Given the description of an element on the screen output the (x, y) to click on. 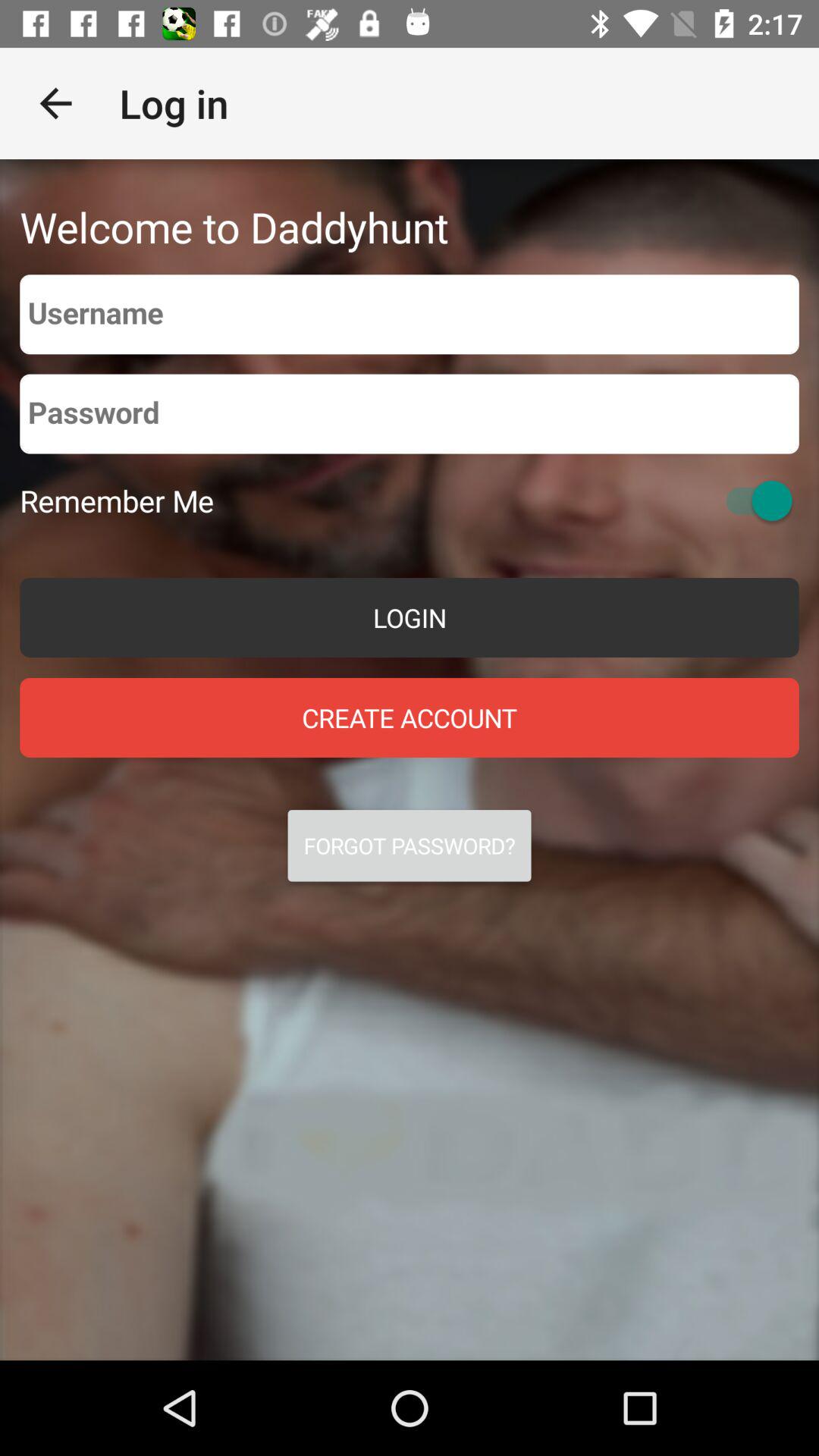
username entry (409, 314)
